Given the description of an element on the screen output the (x, y) to click on. 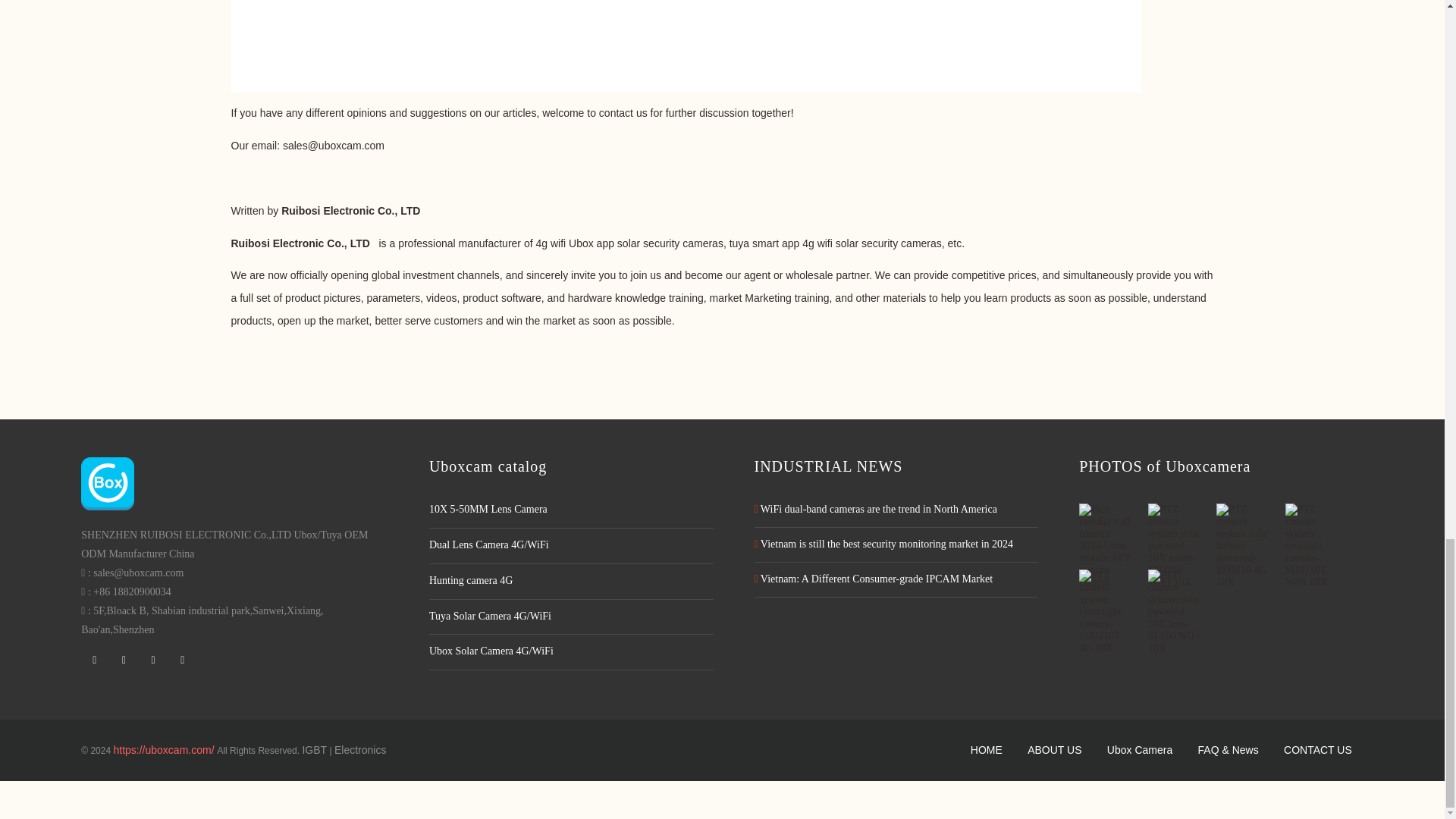
Vietnam: A Different Consumer-grade IPCAM Market (873, 578)
Hunting camera 4G (571, 581)
10X 5-50MM Lens Camera (571, 509)
Vietnam is still the best security monitoring market in 2024 (883, 543)
WiFi dual-band cameras are the trend in North America (874, 509)
Electronics (359, 749)
IGBT Distributor (313, 749)
